Given the description of an element on the screen output the (x, y) to click on. 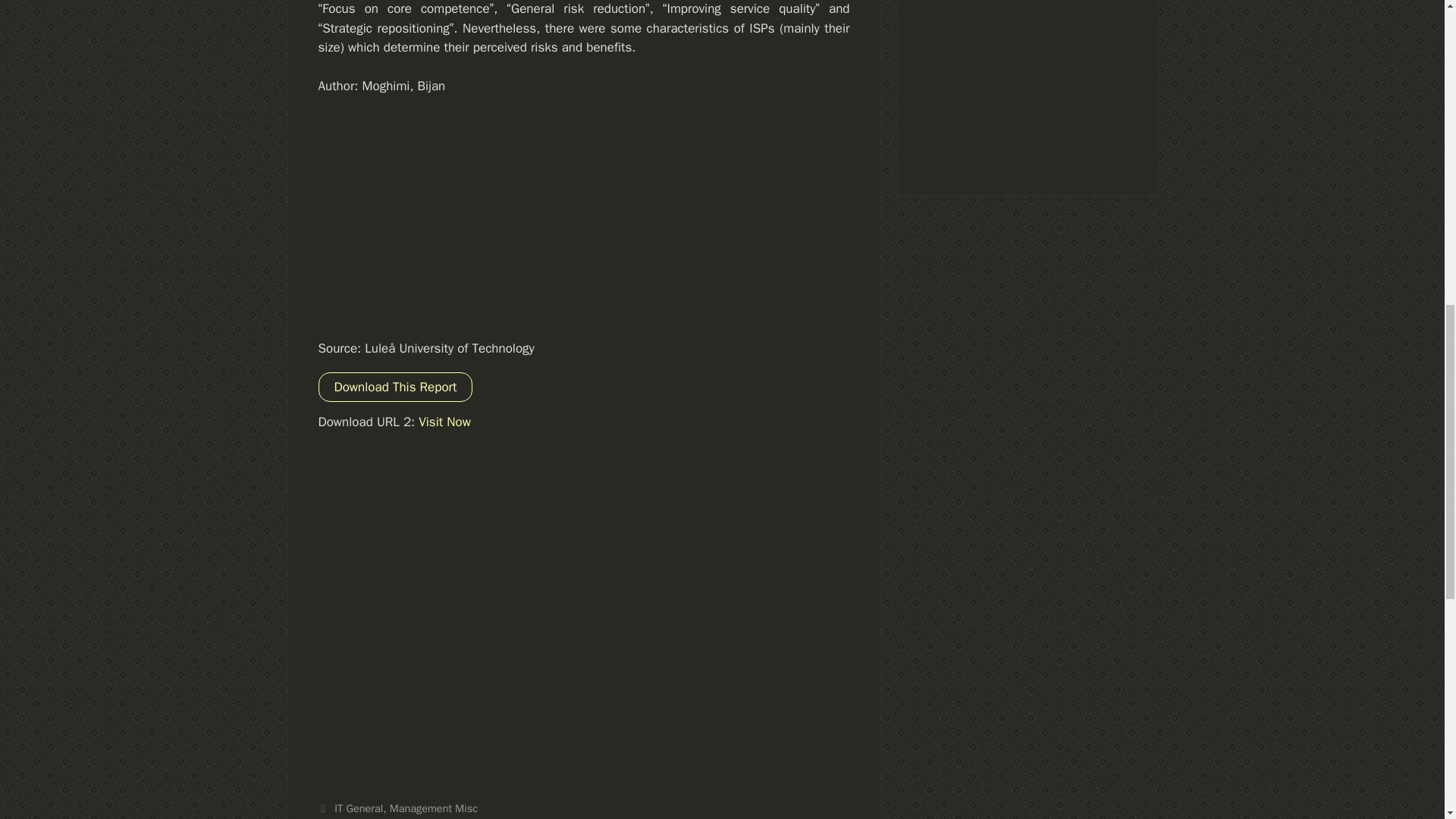
Management Misc (433, 807)
IT General (358, 807)
Information system technology (407, 818)
IT outsourcing (520, 818)
Download This Report (395, 387)
Visit Now (444, 421)
